Given the description of an element on the screen output the (x, y) to click on. 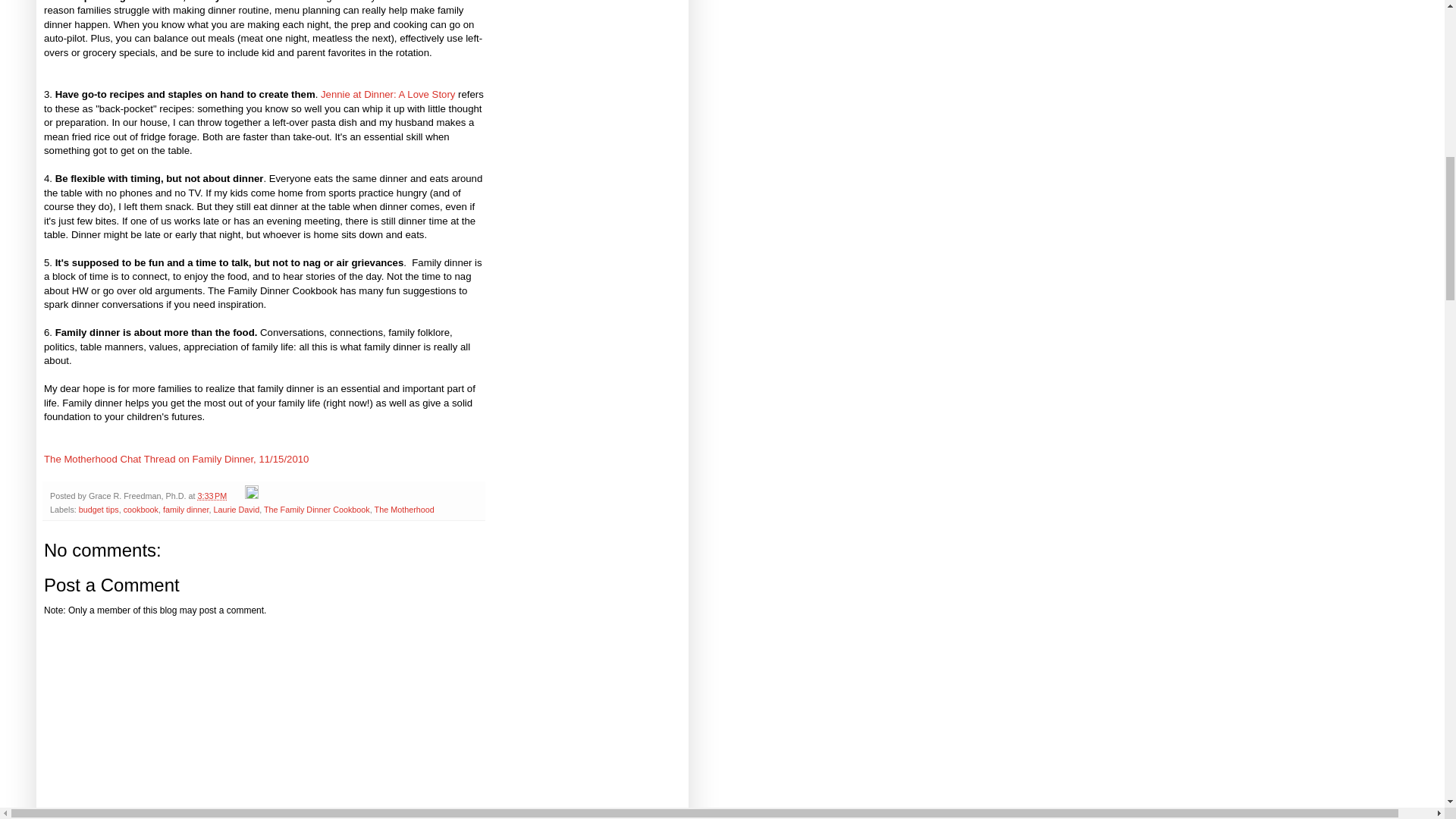
Edit Post (251, 495)
permanent link (211, 495)
cookbook (140, 509)
Jennie at Dinner: A Love Story (389, 93)
family dinner (186, 509)
The Motherhood (403, 509)
Email Post (236, 495)
The Family Dinner Cookbook (316, 509)
budget tips (98, 509)
Laurie David (237, 509)
